Given the description of an element on the screen output the (x, y) to click on. 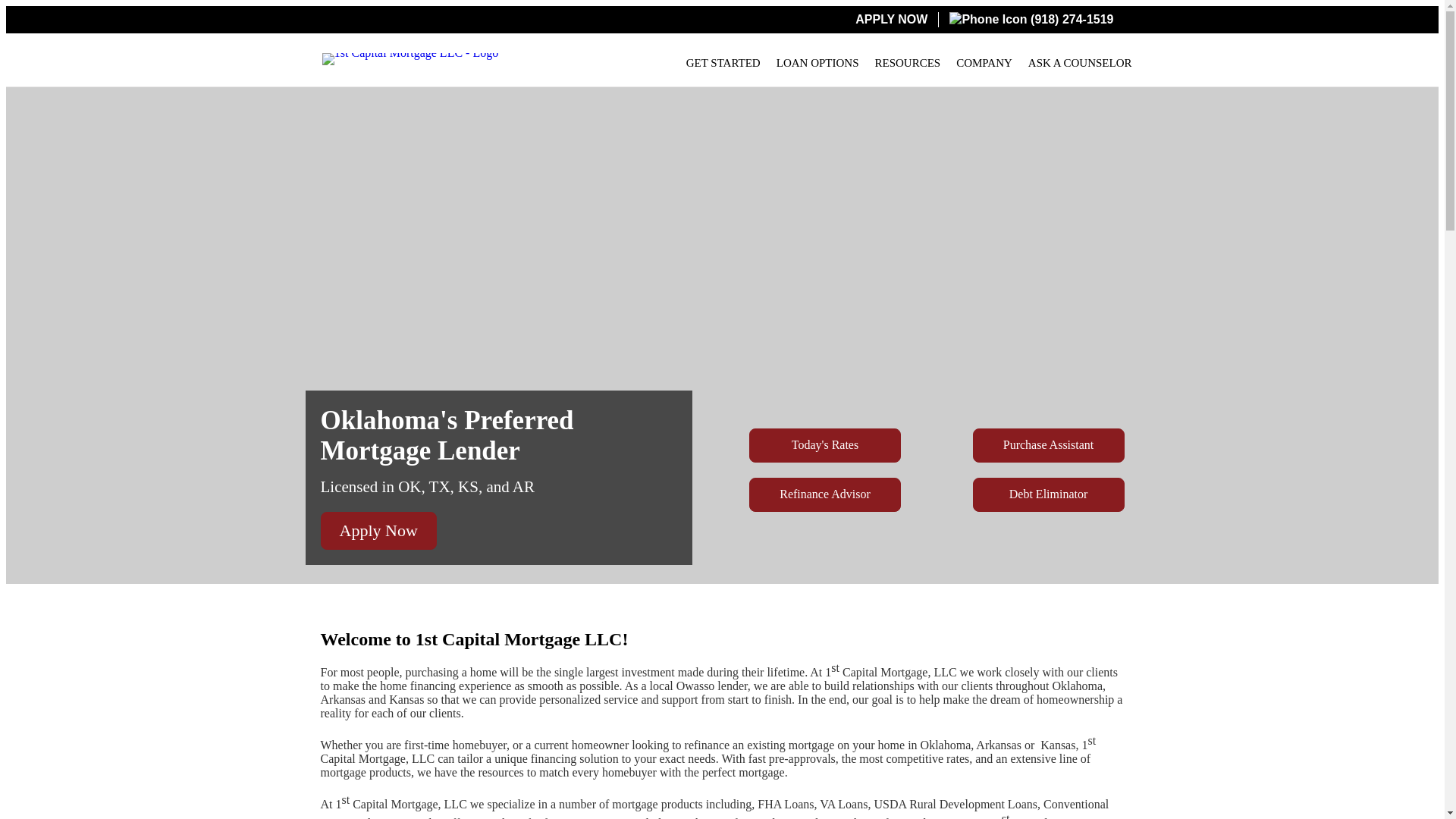
(918) 274-1519 Element type: text (1030, 19)
Debt Eliminator Element type: text (1048, 494)
Refinance Advisor Element type: text (824, 494)
Purchase Assistant Element type: text (1048, 445)
APPLY NOW Element type: text (891, 19)
COMPANY Element type: text (983, 63)
Today's Rates Element type: text (824, 445)
RESOURCES Element type: text (906, 63)
ASK A COUNSELOR Element type: text (1079, 63)
GET STARTED Element type: text (723, 63)
LOAN OPTIONS Element type: text (817, 63)
Apply Now Element type: text (378, 530)
